Given the description of an element on the screen output the (x, y) to click on. 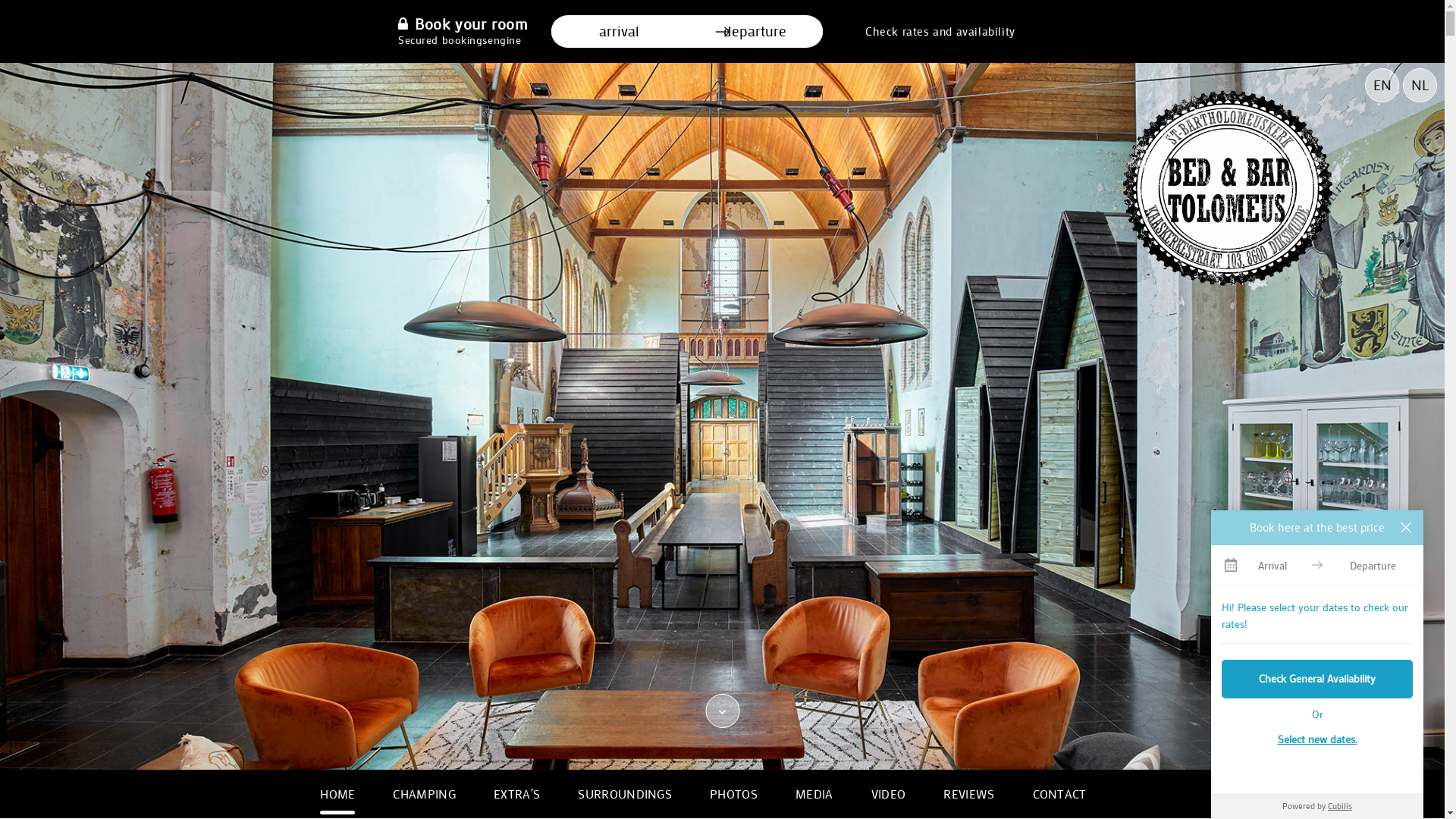
PHOTOS Element type: text (733, 793)
EN Element type: text (1382, 85)
Check General Availability Element type: text (1316, 678)
MEDIA Element type: text (814, 793)
Check rates and availability Element type: text (940, 31)
SURROUNDINGS Element type: text (624, 793)
VIDEO Element type: text (888, 793)
Select new dates. Element type: text (1316, 739)
NL Element type: text (1419, 85)
CONTACT Element type: text (1059, 793)
HOME Element type: text (337, 793)
REVIEWS Element type: text (968, 793)
Cubilis Element type: text (1339, 805)
CHAMPING Element type: text (423, 793)
